Given the description of an element on the screen output the (x, y) to click on. 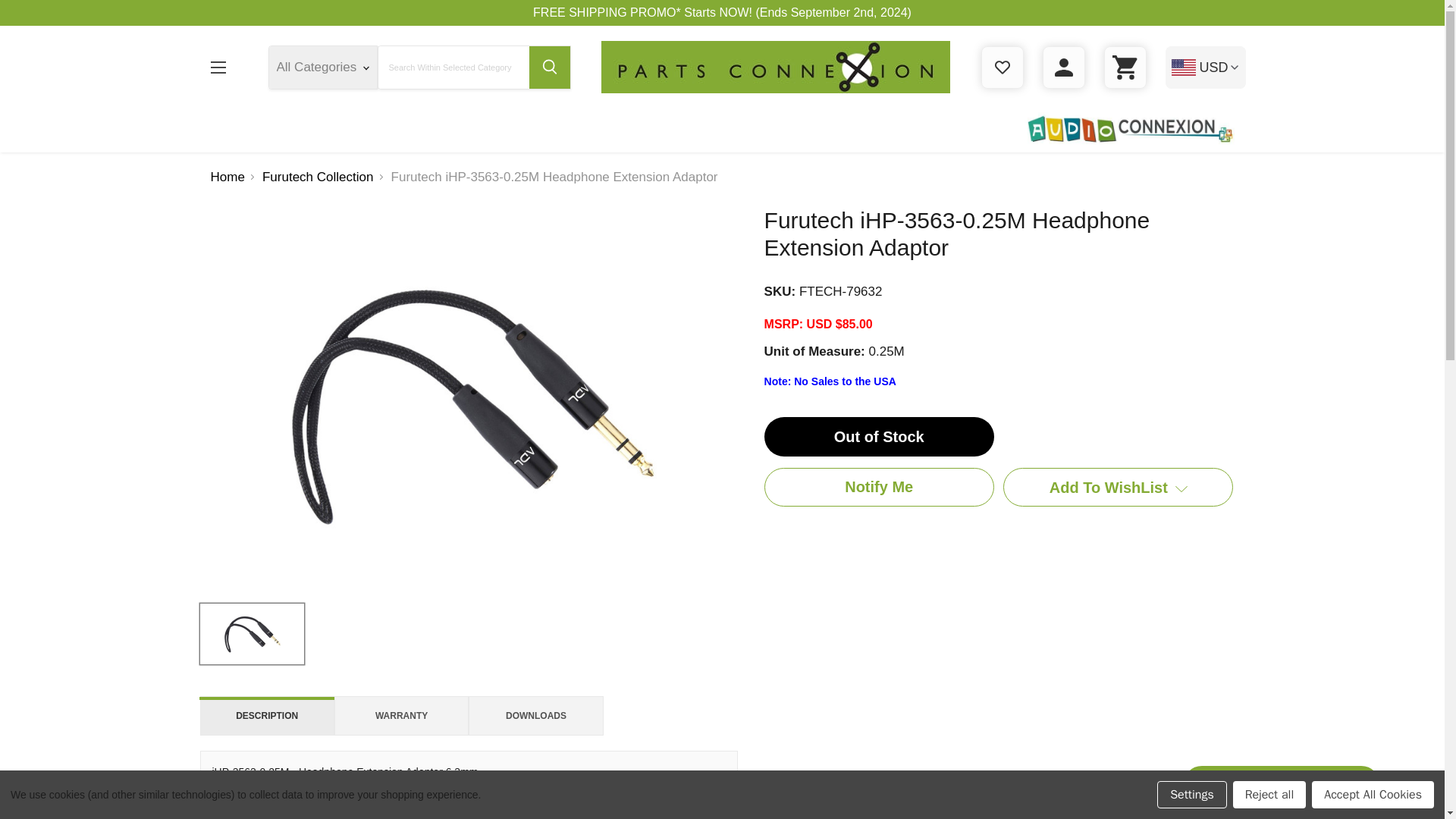
USD (1204, 66)
Furutech iHP-3563-0.25M Headphone Extension Adaptor (252, 633)
Notify Me (879, 486)
Toggle menu (217, 66)
Parts Connexion (774, 66)
